Given the description of an element on the screen output the (x, y) to click on. 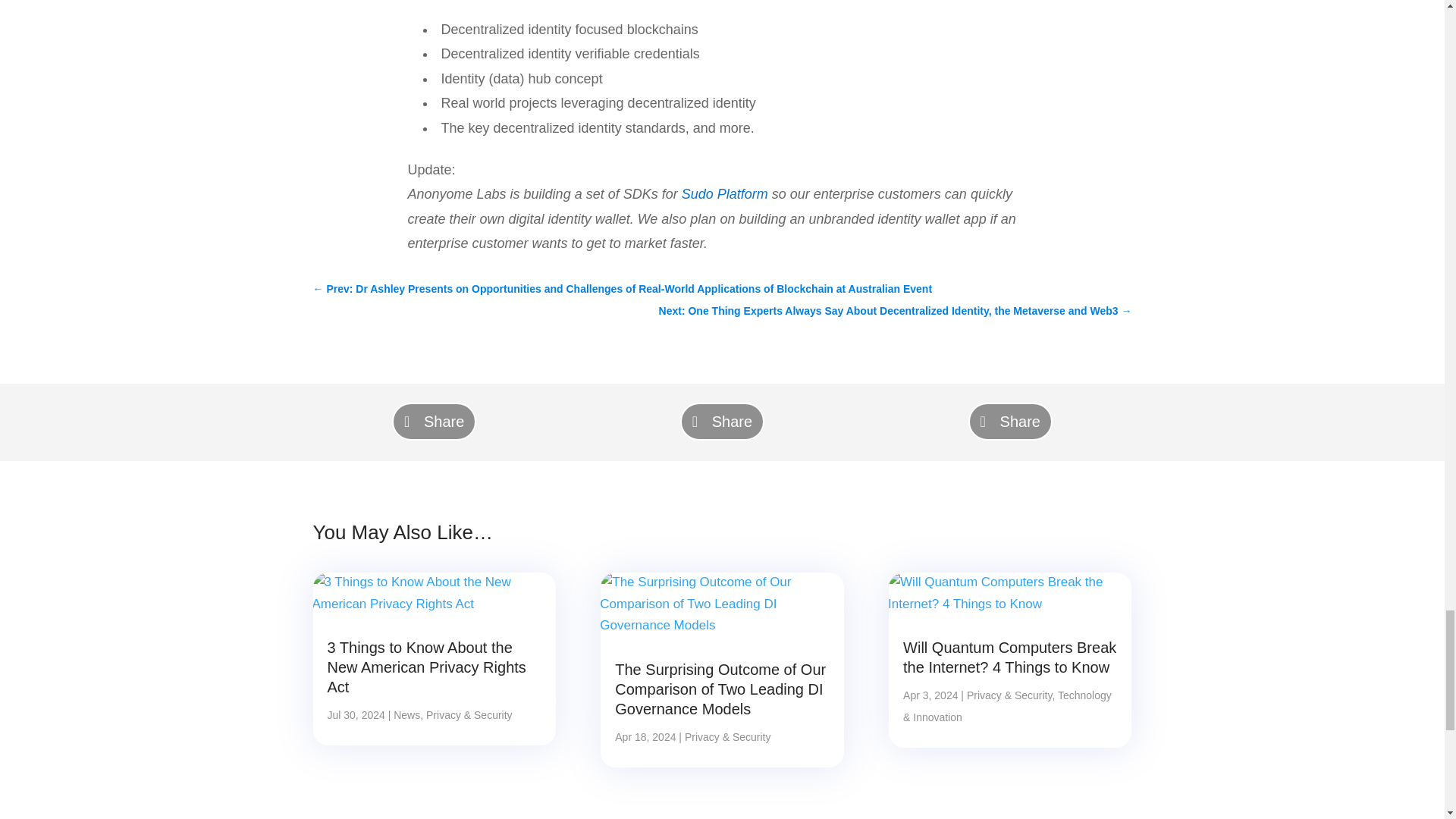
News (406, 715)
Will Quantum Computers Break the Internet? 4 Things to Know (1009, 657)
3 Things to Know About the New American Privacy Rights Act  (426, 667)
Share (1010, 421)
Share (433, 421)
Sudo Platform (724, 193)
Share (721, 421)
